Given the description of an element on the screen output the (x, y) to click on. 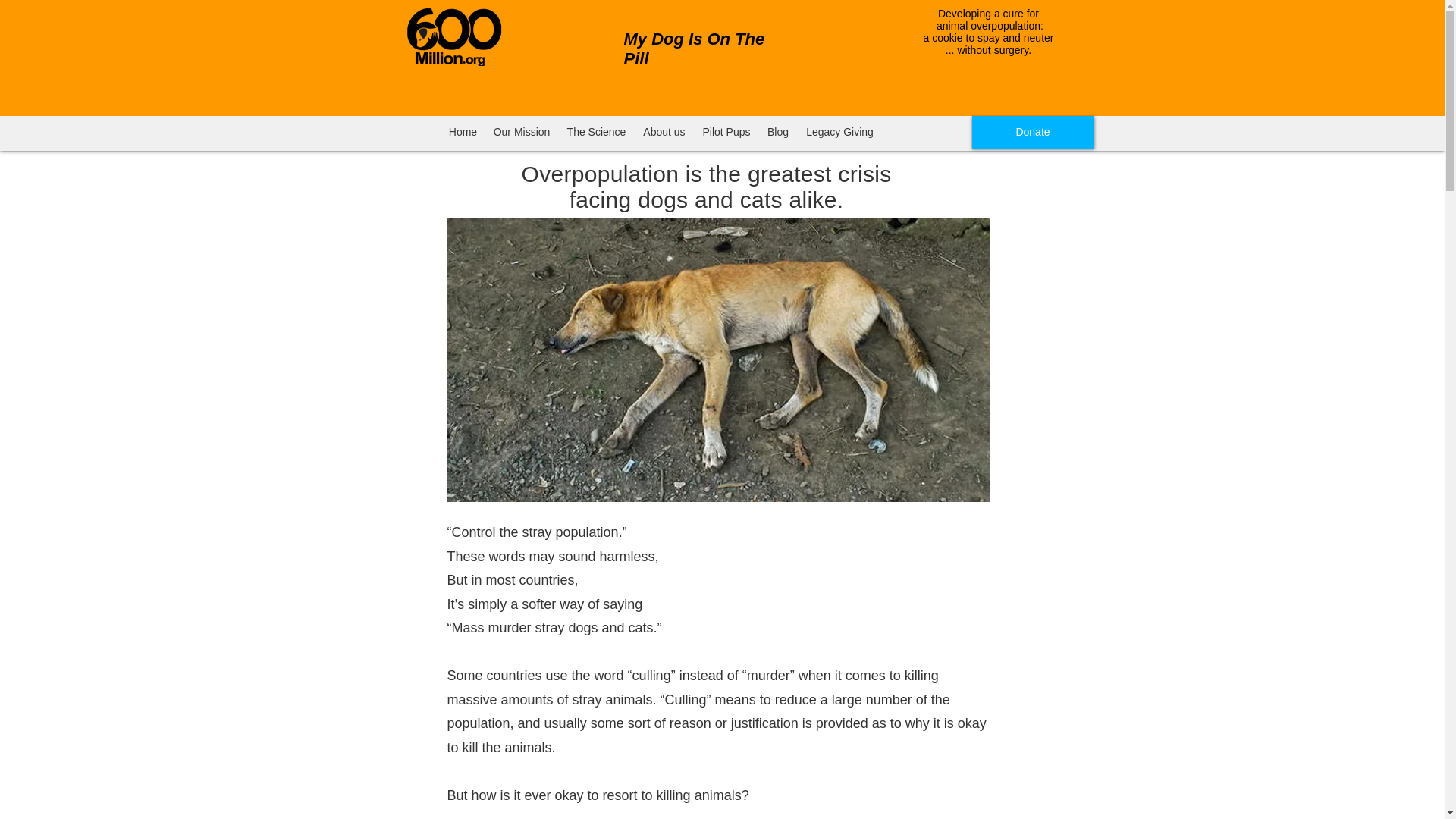
Blog (777, 132)
Legacy Giving (839, 132)
Pilot Pups (726, 132)
Donate (1033, 132)
Home (462, 132)
Our Mission (520, 132)
